Given the description of an element on the screen output the (x, y) to click on. 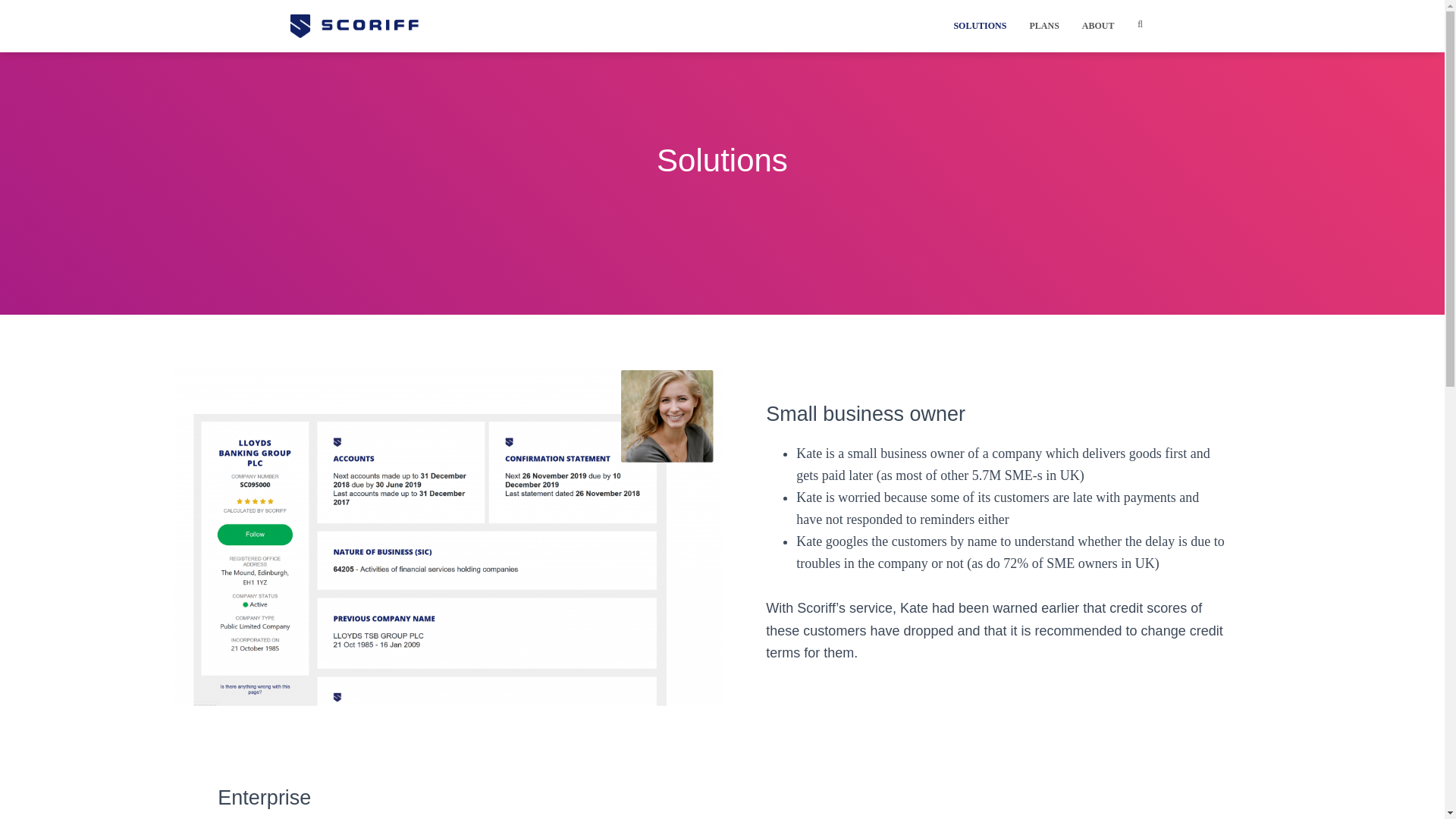
Solutions (979, 26)
ABOUT (1097, 26)
PLANS (1043, 26)
SOLUTIONS (979, 26)
Behavioral business credit scoring (379, 25)
About (1097, 26)
Plans (1043, 26)
Search (3, 16)
